Given the description of an element on the screen output the (x, y) to click on. 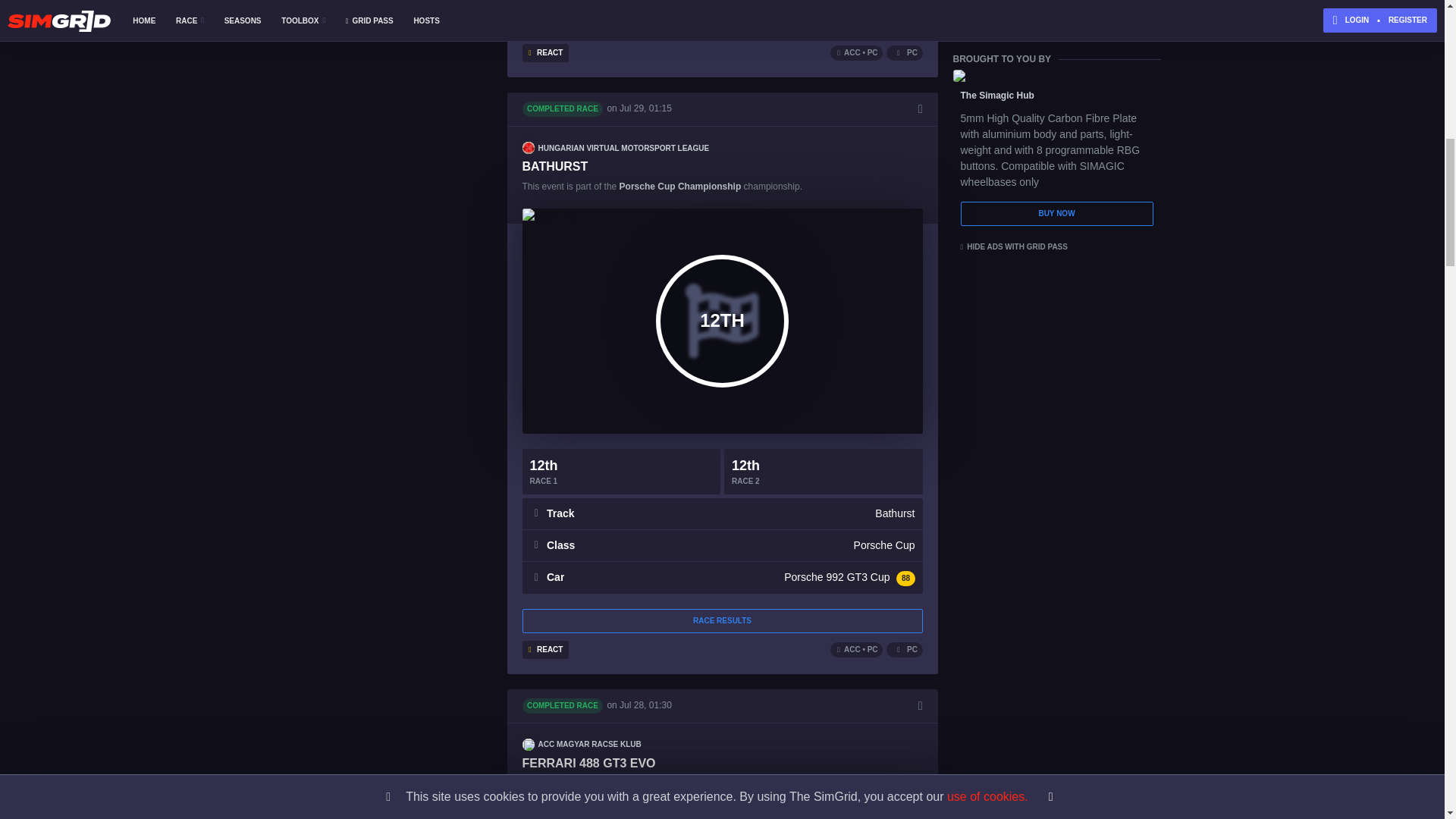
July 29, 2024 at 1:15am  (645, 108)
